Given the description of an element on the screen output the (x, y) to click on. 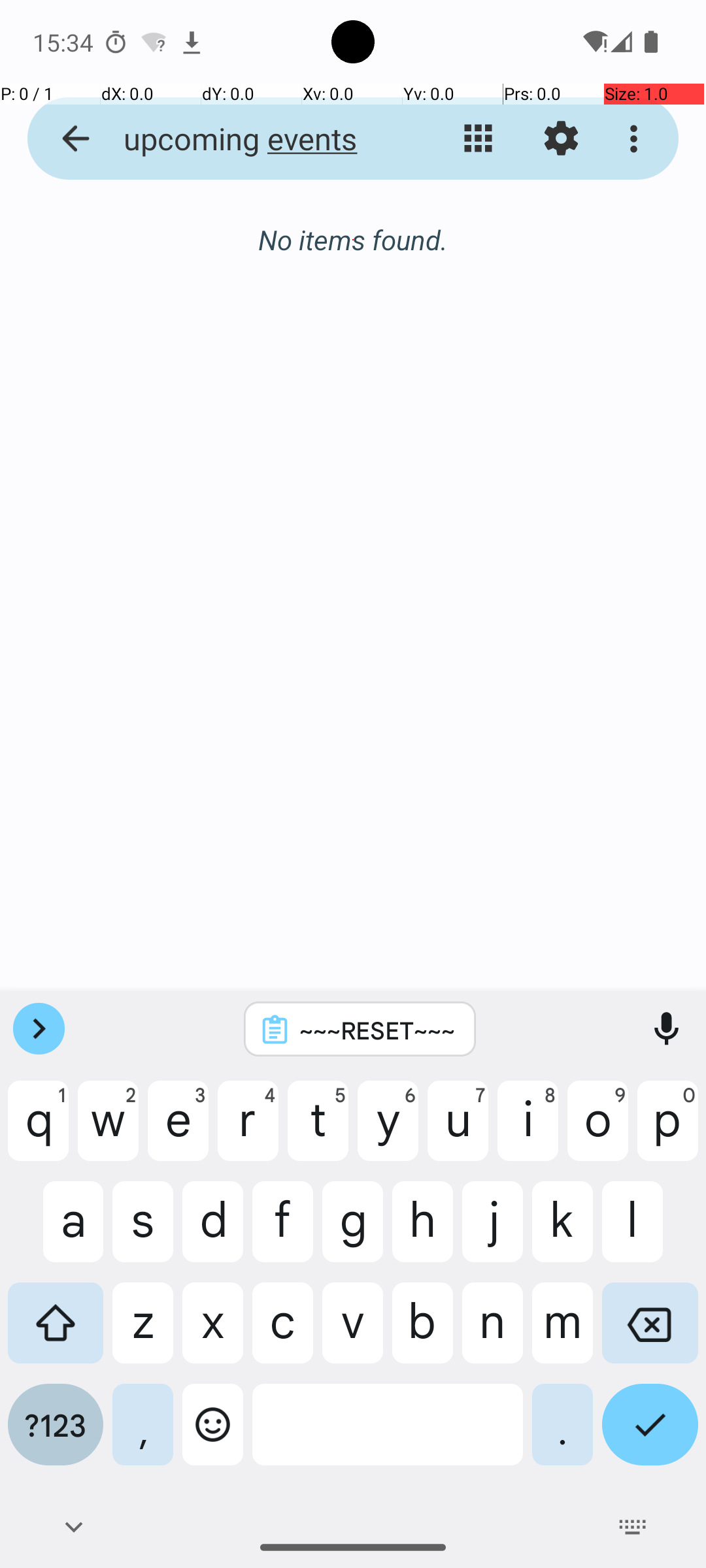
upcoming events Element type: android.widget.EditText (252, 138)
